Given the description of an element on the screen output the (x, y) to click on. 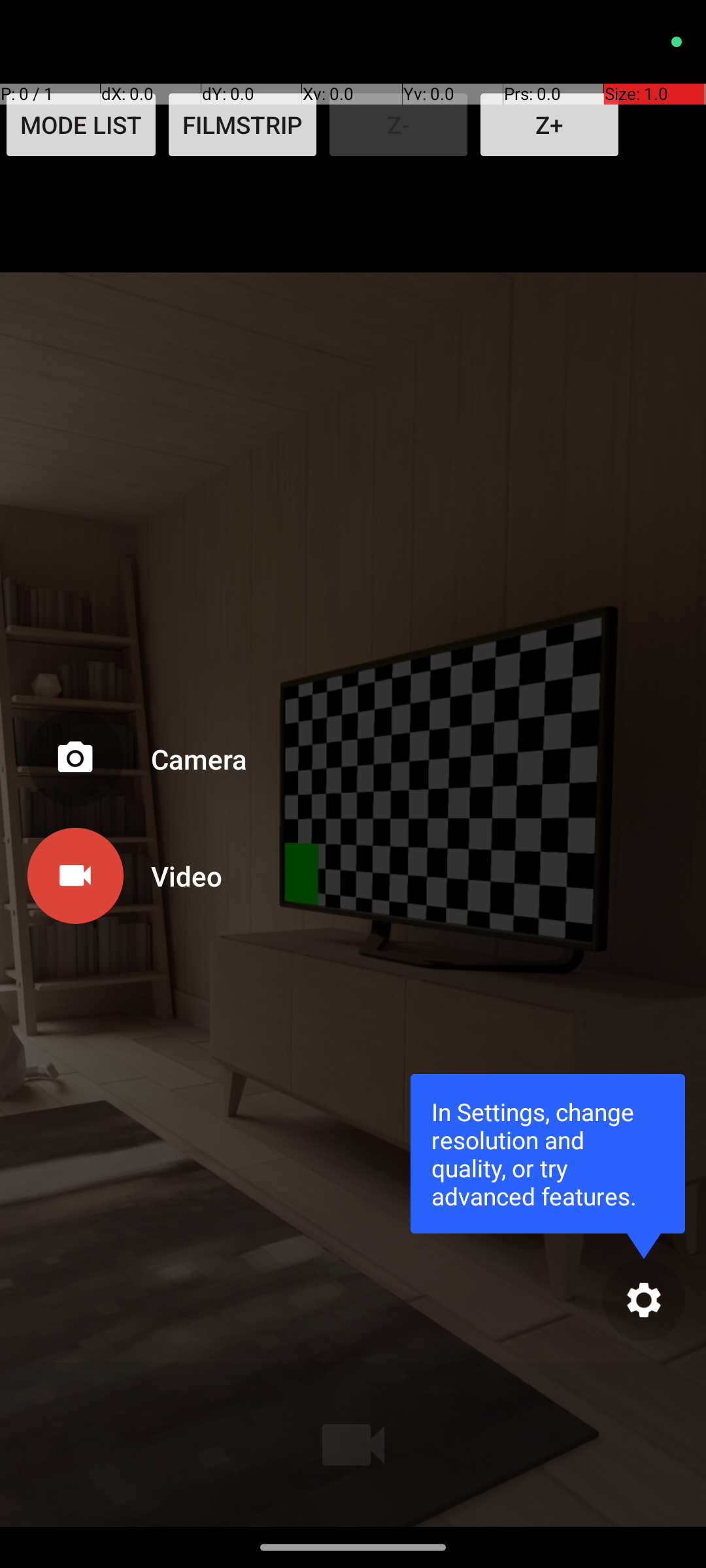
Switch to Camera Mode Element type: android.widget.FrameLayout (134, 763)
Switch to Video Camera Element type: android.widget.FrameLayout (134, 870)
In Settings, change resolution and quality, or try advanced features. Element type: android.widget.TextView (547, 1153)
Camera Element type: android.widget.TextView (185, 758)
Video Element type: android.widget.TextView (185, 875)
